Given the description of an element on the screen output the (x, y) to click on. 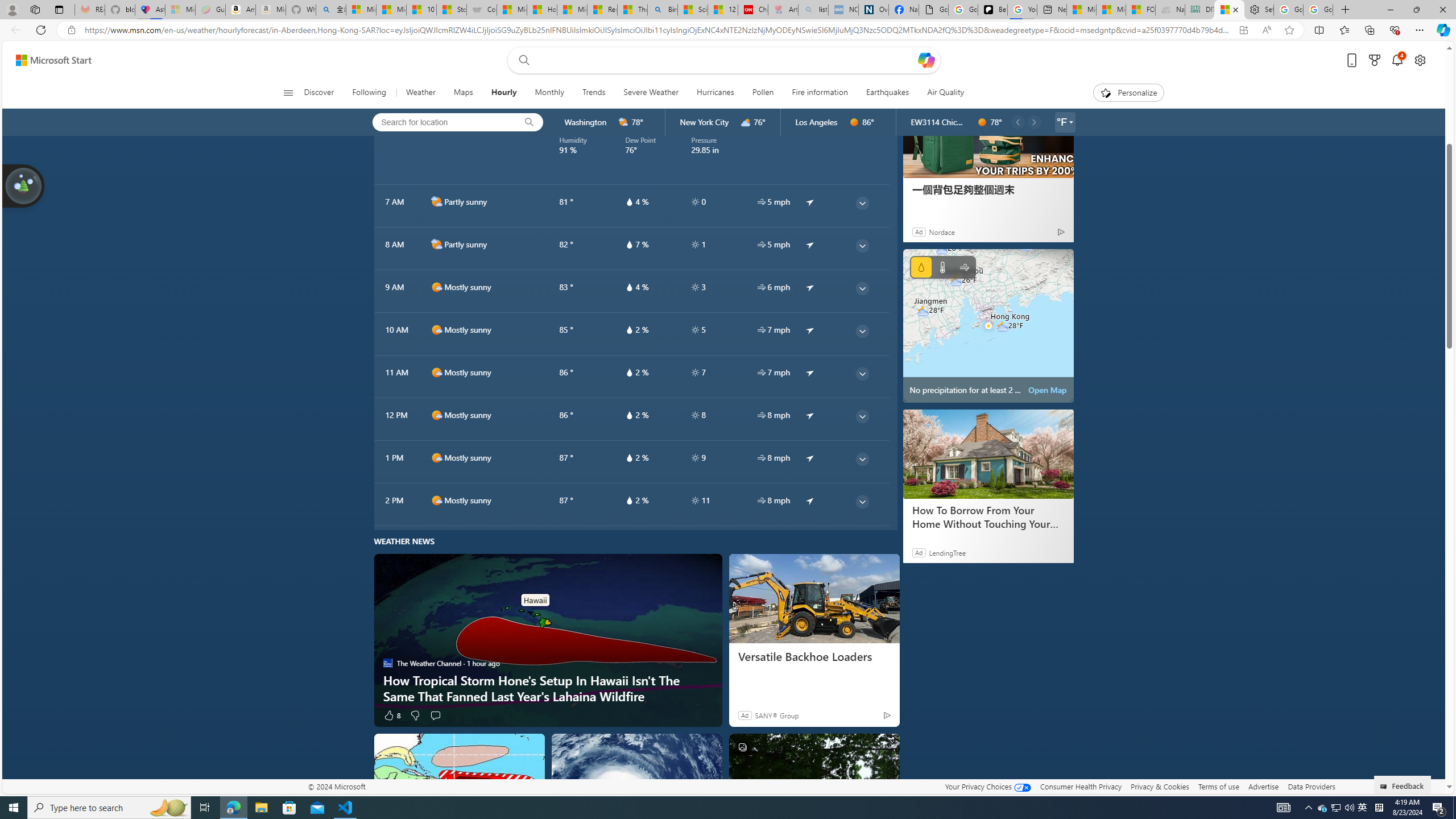
Microsoft rewards (1374, 60)
Wind (964, 267)
Hurricanes (715, 92)
Microsoft-Report a Concern to Bing - Sleeping (180, 9)
LendingTree (946, 552)
